Given the description of an element on the screen output the (x, y) to click on. 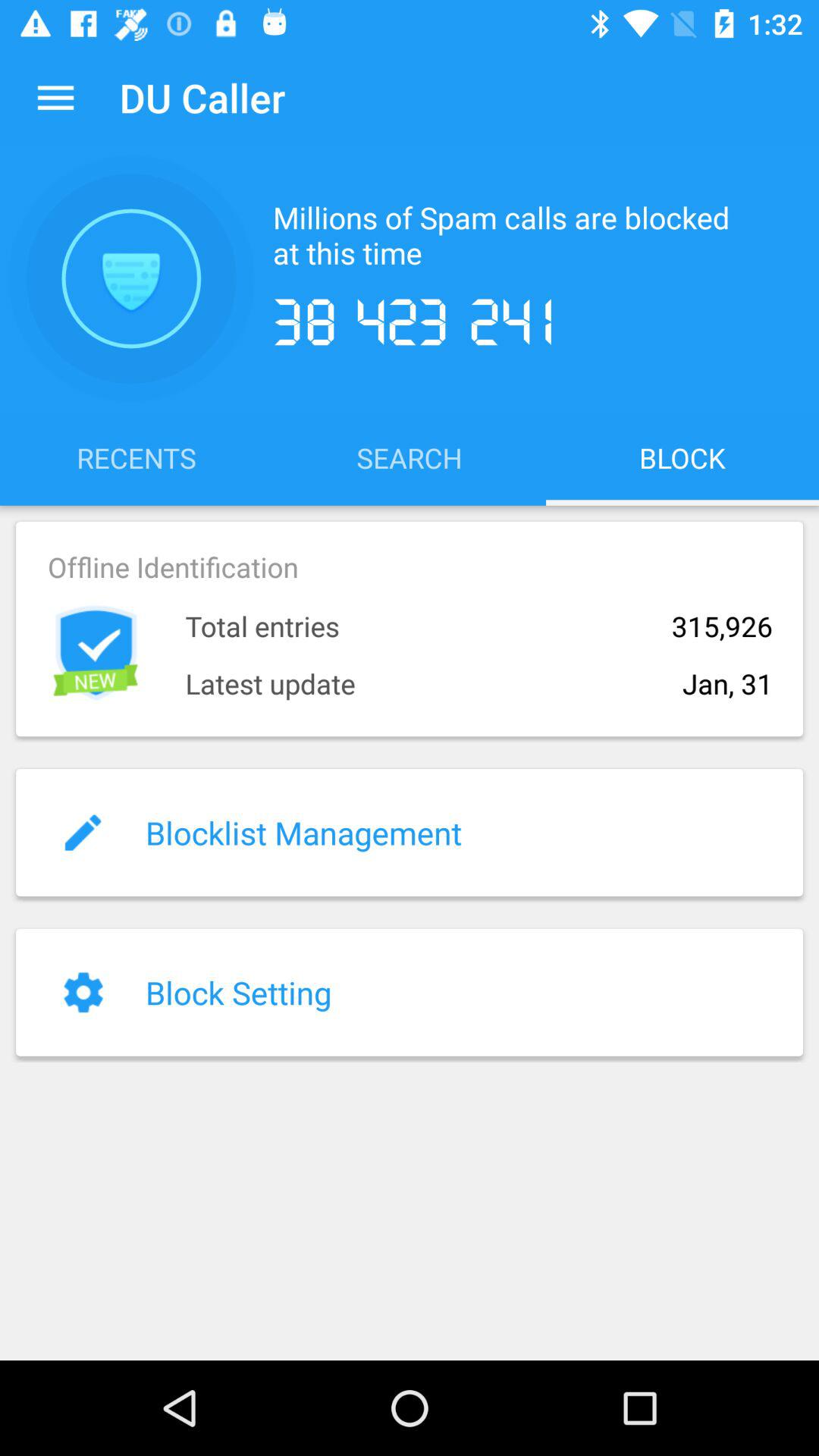
turn on the icon to the left of the search item (136, 457)
